Given the description of an element on the screen output the (x, y) to click on. 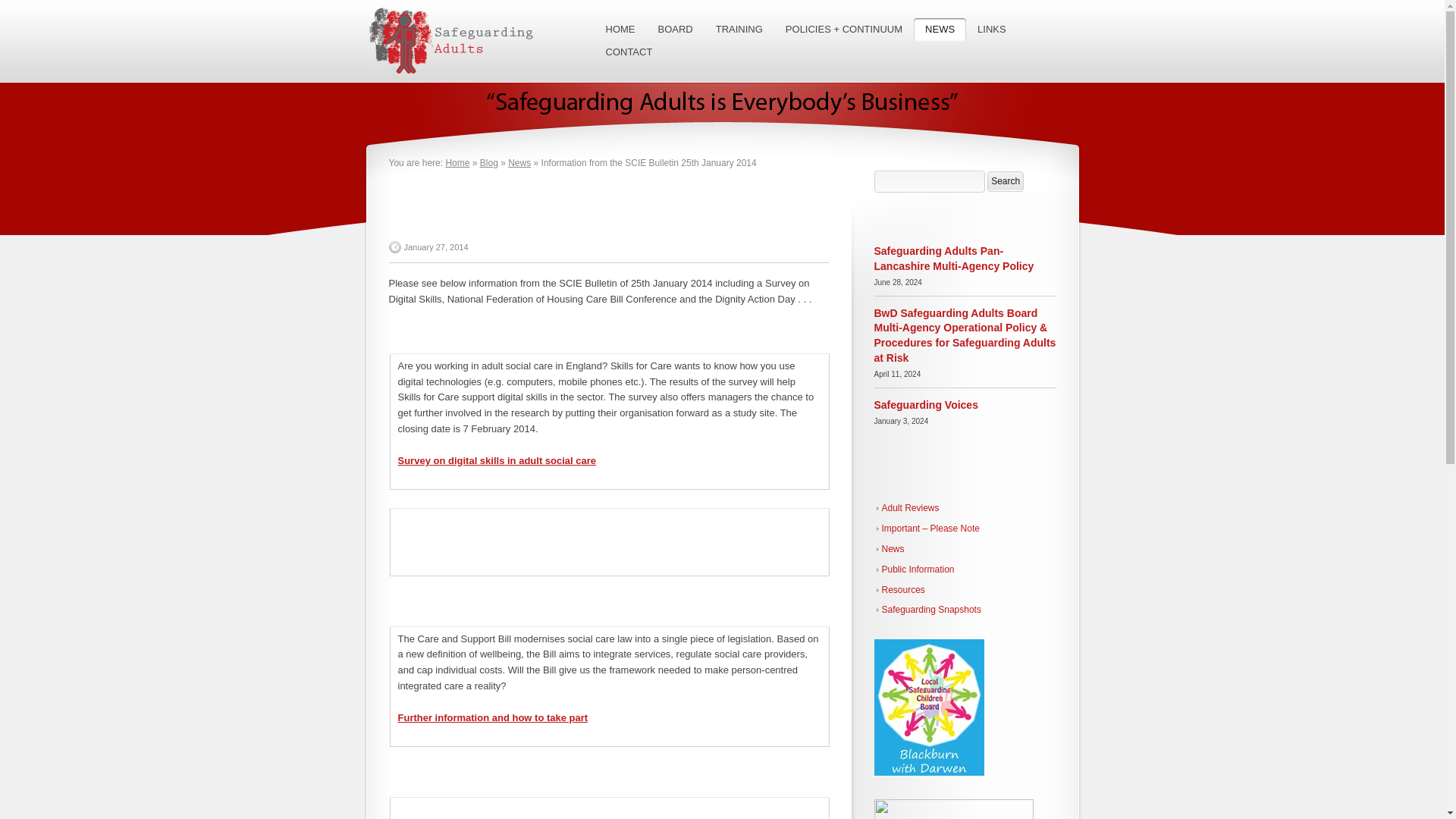
Survey on digital skills in adult social care (496, 460)
News (888, 548)
CONTACT (628, 51)
BOARD (674, 29)
Further information and how to take part (492, 717)
Safeguarding Adults Pan-Lancashire Multi-Agency Policy (953, 257)
TRAINING (739, 29)
Adult Reviews (906, 507)
Resources (898, 589)
NEWS (940, 29)
LINKS (991, 29)
HOME (620, 29)
Search (1005, 181)
Blog (488, 163)
Safeguarding Snapshots (926, 609)
